Given the description of an element on the screen output the (x, y) to click on. 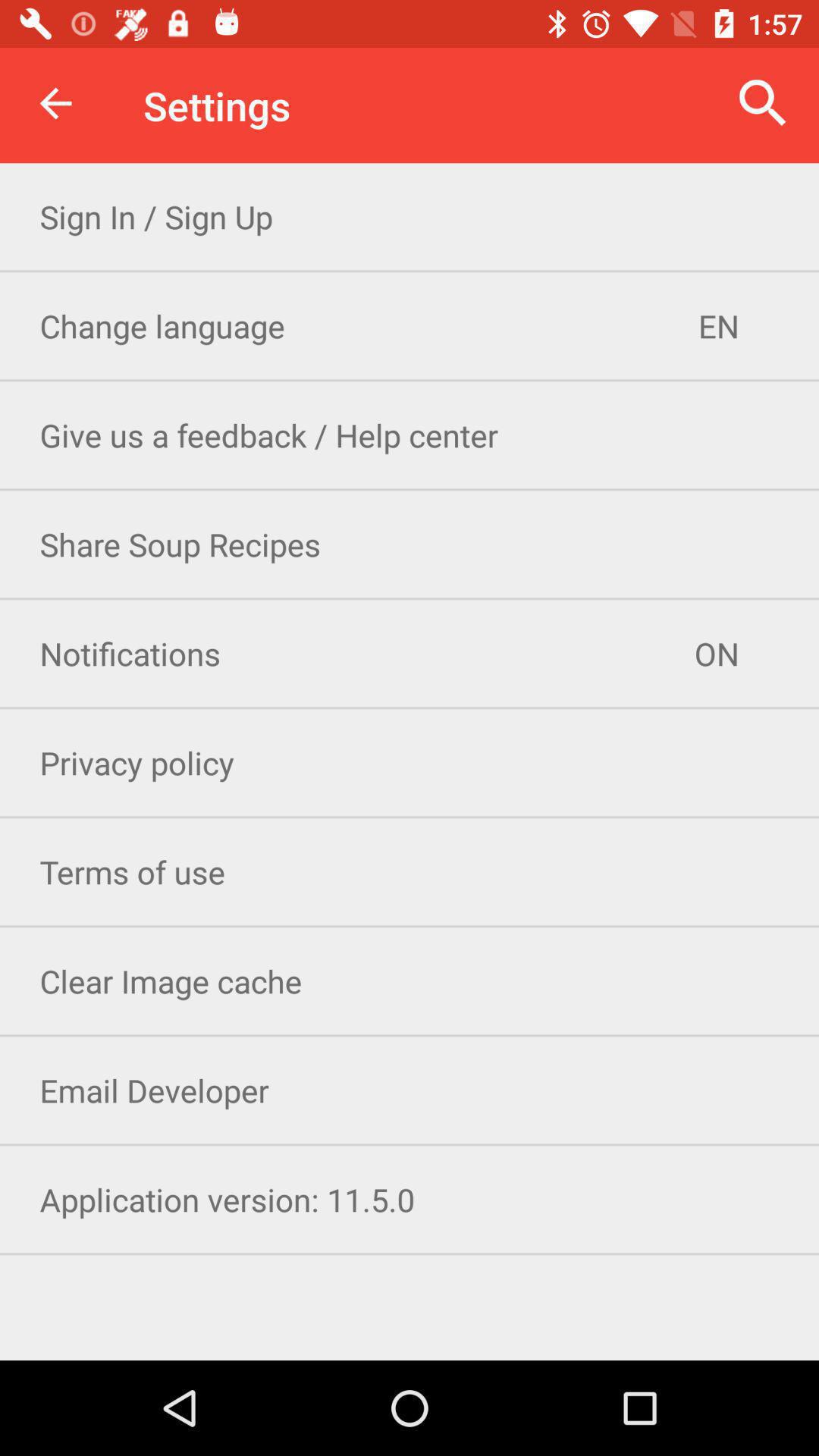
swipe until privacy policy (409, 762)
